Given the description of an element on the screen output the (x, y) to click on. 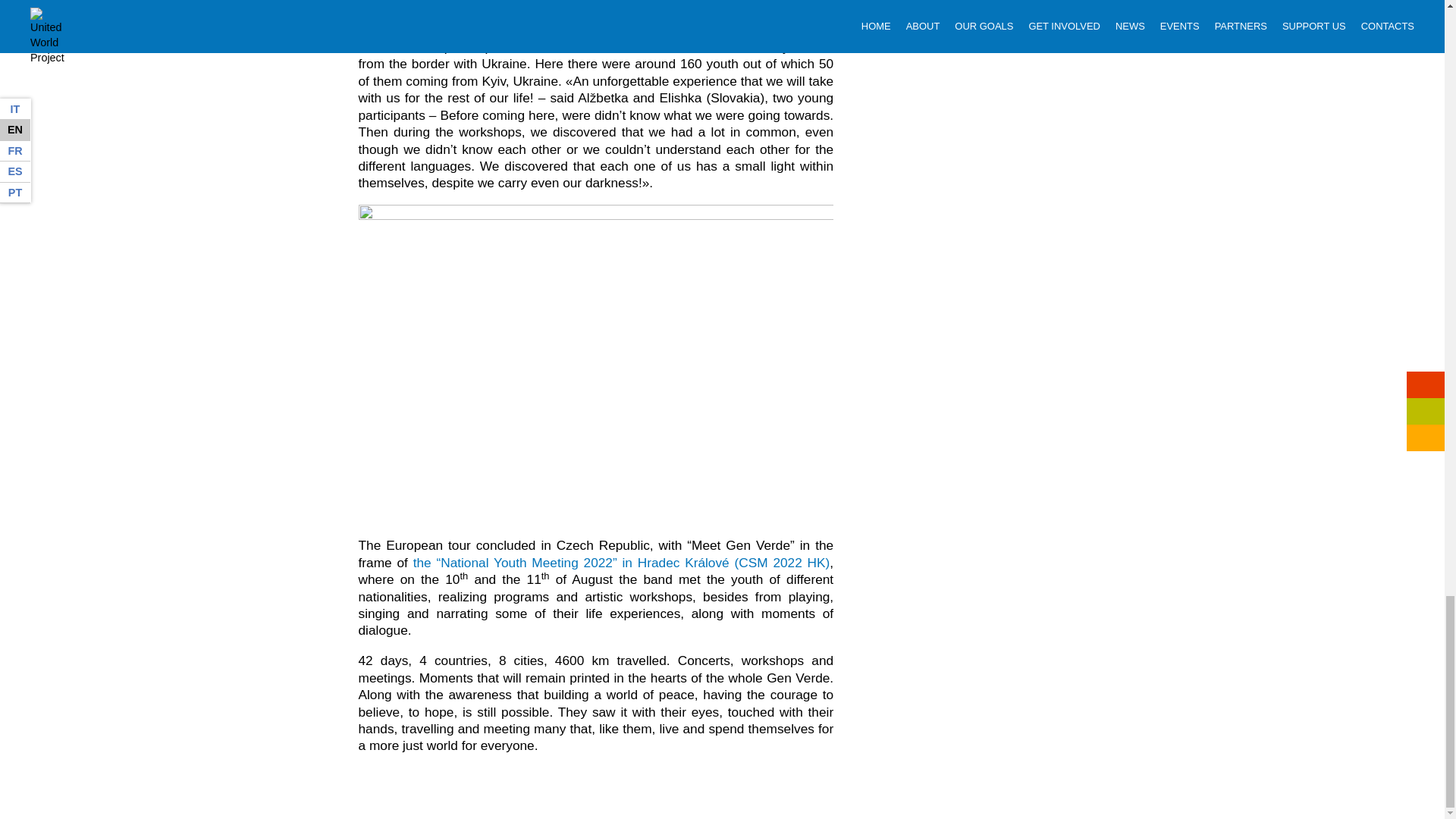
Start Now Workshop Project (446, 12)
